Given the description of an element on the screen output the (x, y) to click on. 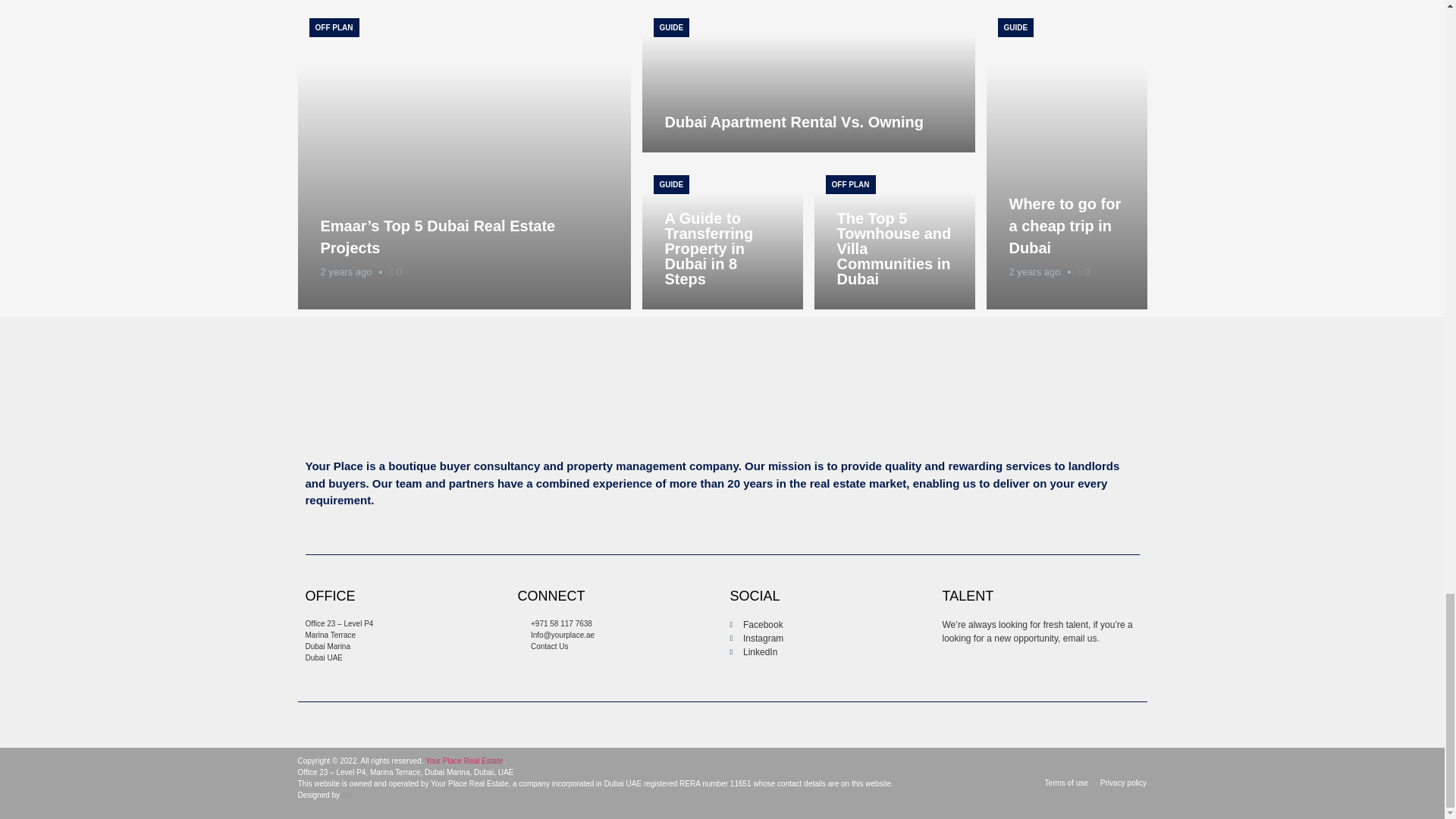
OFF PLAN (333, 27)
Dubai Apartment Rental Vs. Owning (793, 121)
The Top 5 Townhouse and Villa Communities in Dubai (894, 236)
A Guide to Transferring Property in Dubai in 8 Steps (707, 248)
The Top 5 Townhouse and Villa Communities in Dubai (894, 248)
Where to go for a cheap trip in Dubai (1065, 225)
Where to go for a cheap trip in Dubai (1066, 157)
Dubai Apartment Rental Vs. Owning (808, 79)
A Guide to Transferring Property in Dubai in 8 Steps (722, 236)
